Given the description of an element on the screen output the (x, y) to click on. 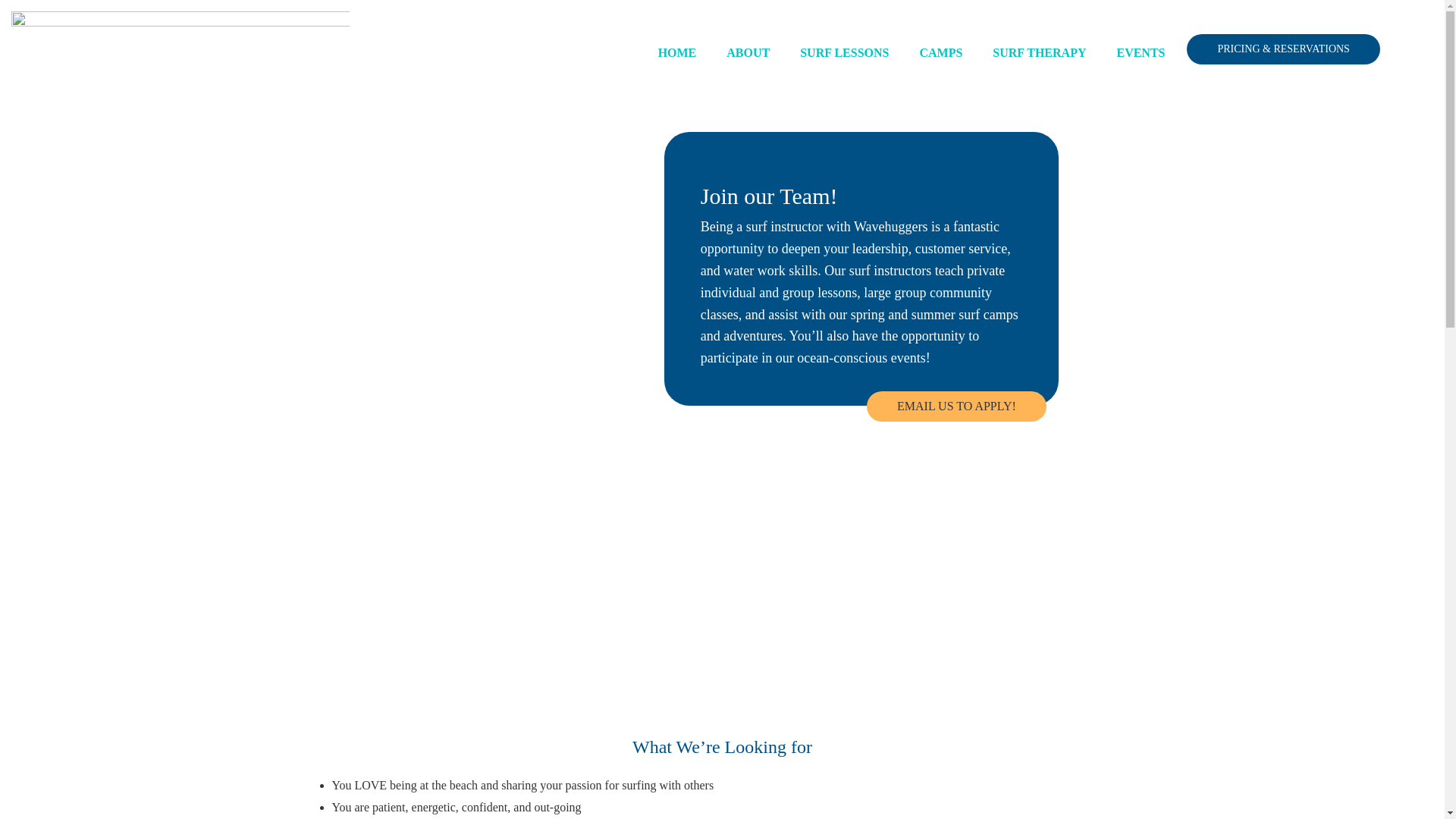
CAMPS (940, 53)
HOME (677, 53)
SURF THERAPY (1038, 53)
ABOUT (747, 53)
EVENTS (1139, 53)
SURF LESSONS (844, 53)
